Given the description of an element on the screen output the (x, y) to click on. 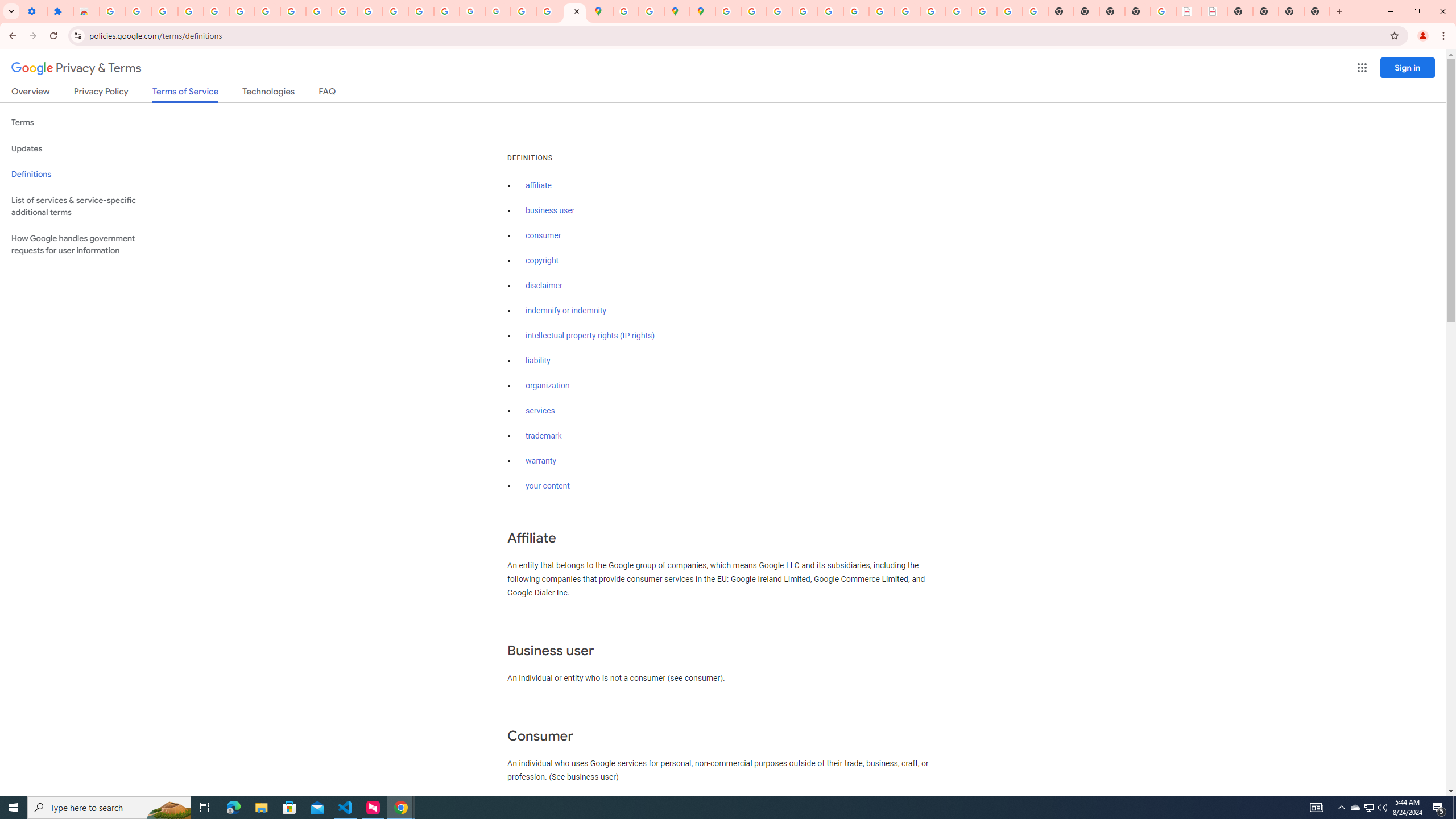
liability (537, 361)
affiliate (538, 185)
trademark (543, 435)
YouTube (881, 11)
